Given the description of an element on the screen output the (x, y) to click on. 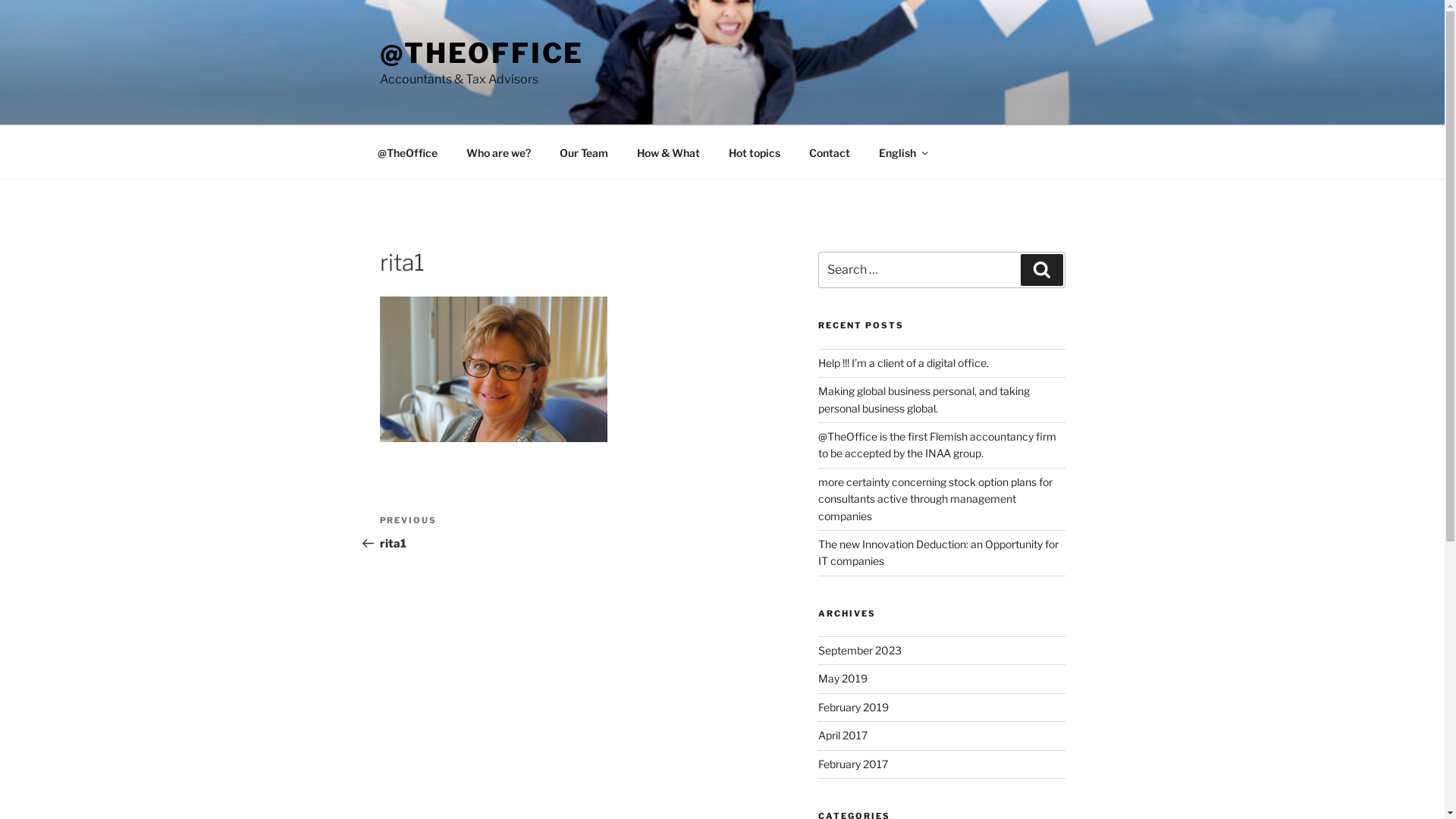
How & What Element type: text (667, 151)
April 2017 Element type: text (842, 734)
@THEOFFICE Element type: text (481, 52)
@TheOffice Element type: text (407, 151)
February 2019 Element type: text (853, 706)
Previous Post
PREVIOUS
rita1 Element type: text (478, 532)
English Element type: text (903, 151)
September 2023 Element type: text (859, 649)
Our Team Element type: text (583, 151)
Hot topics Element type: text (754, 151)
Contact Element type: text (829, 151)
February 2017 Element type: text (853, 763)
Search Element type: text (1041, 269)
Who are we? Element type: text (498, 151)
May 2019 Element type: text (842, 677)
